Given the description of an element on the screen output the (x, y) to click on. 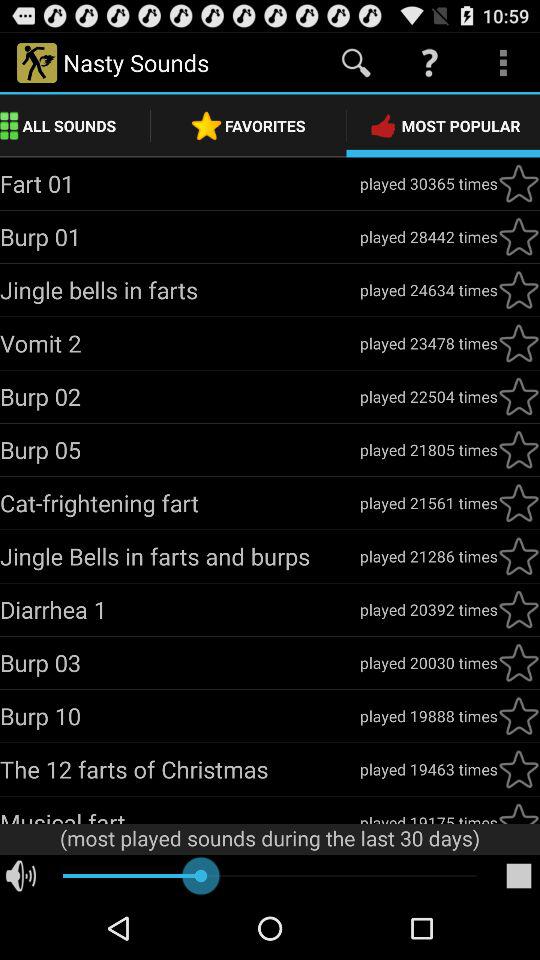
favorite button (519, 609)
